Given the description of an element on the screen output the (x, y) to click on. 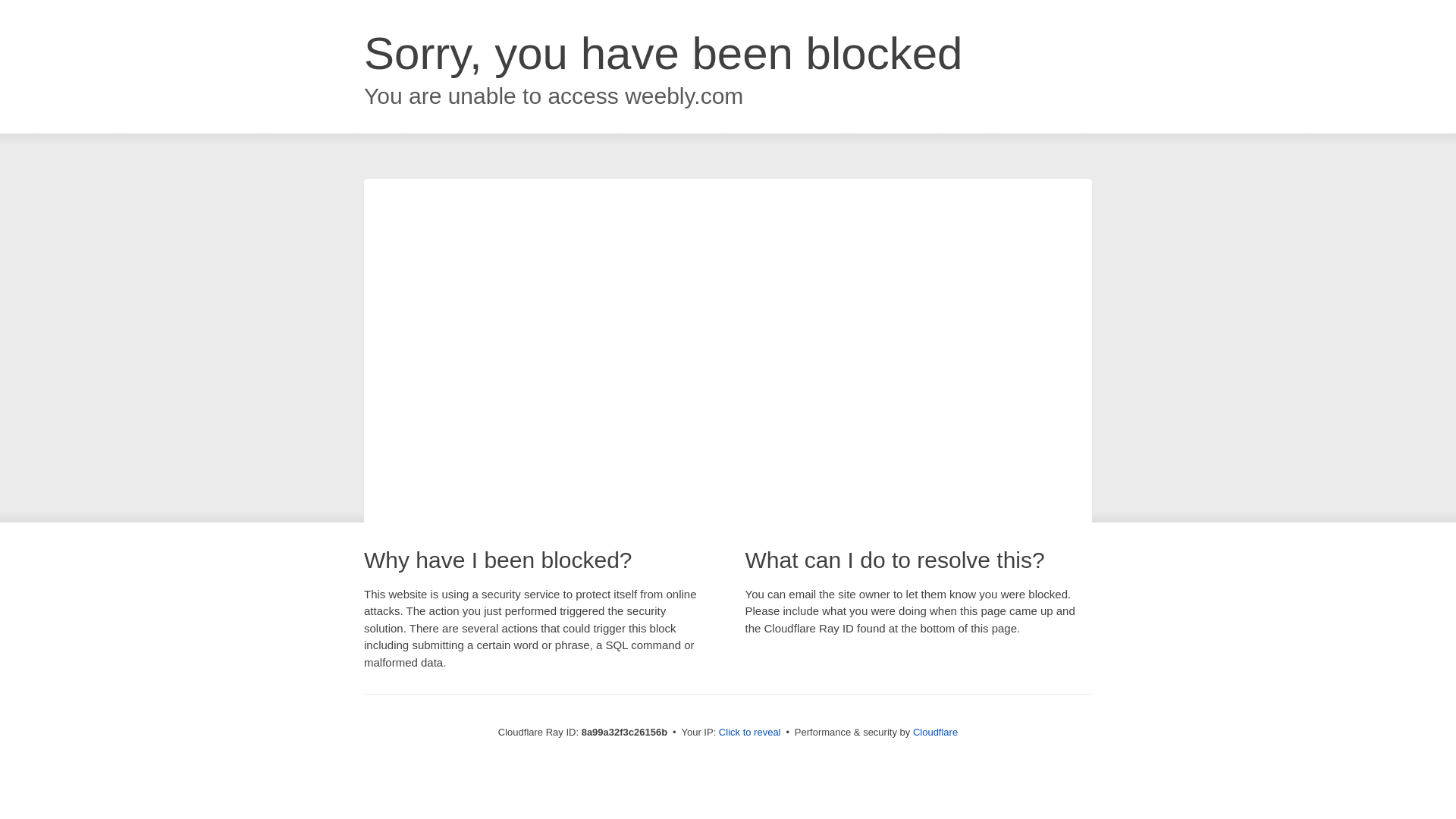
Click to reveal (749, 732)
Cloudflare (935, 731)
